Given the description of an element on the screen output the (x, y) to click on. 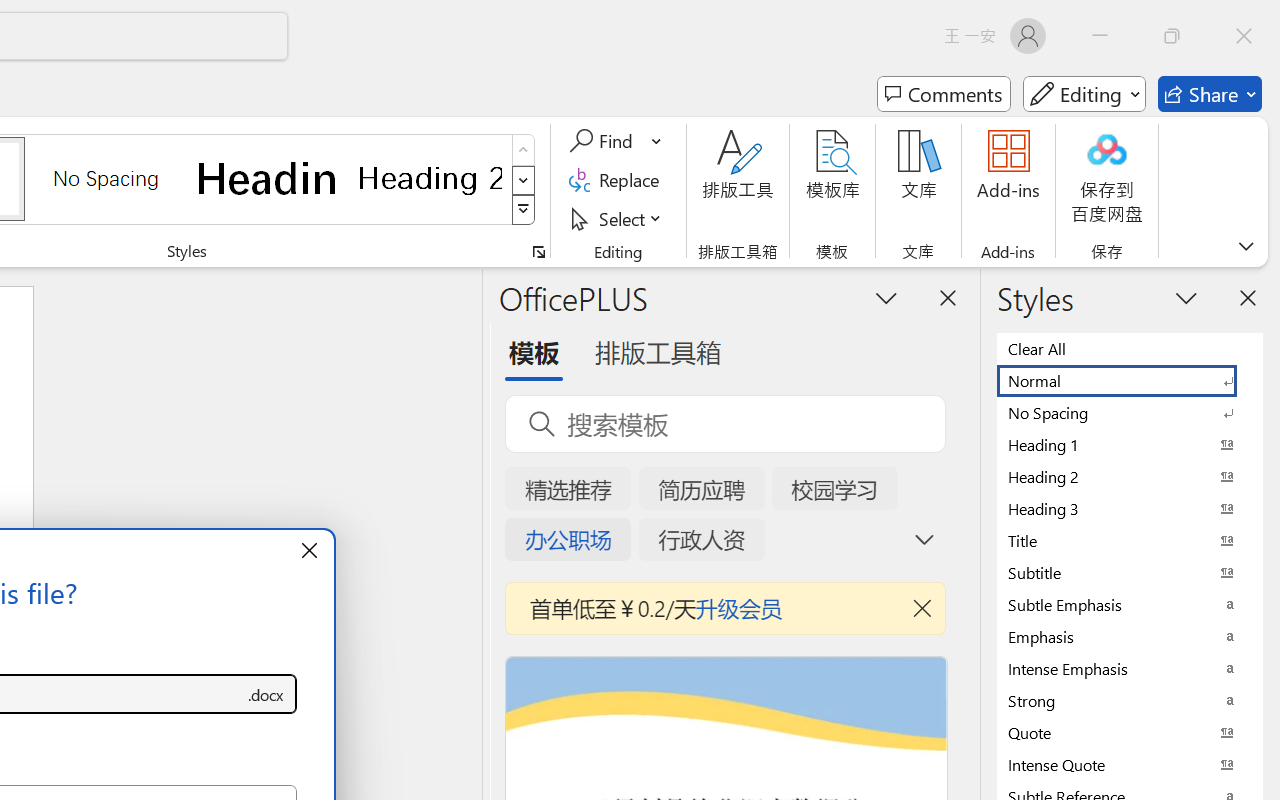
Share (1210, 94)
Intense Quote (1130, 764)
Subtitle (1130, 572)
Styles (523, 209)
Select (618, 218)
Find (604, 141)
Strong (1130, 700)
Heading 1 (267, 178)
Emphasis (1130, 636)
Class: NetUIImage (523, 210)
